Given the description of an element on the screen output the (x, y) to click on. 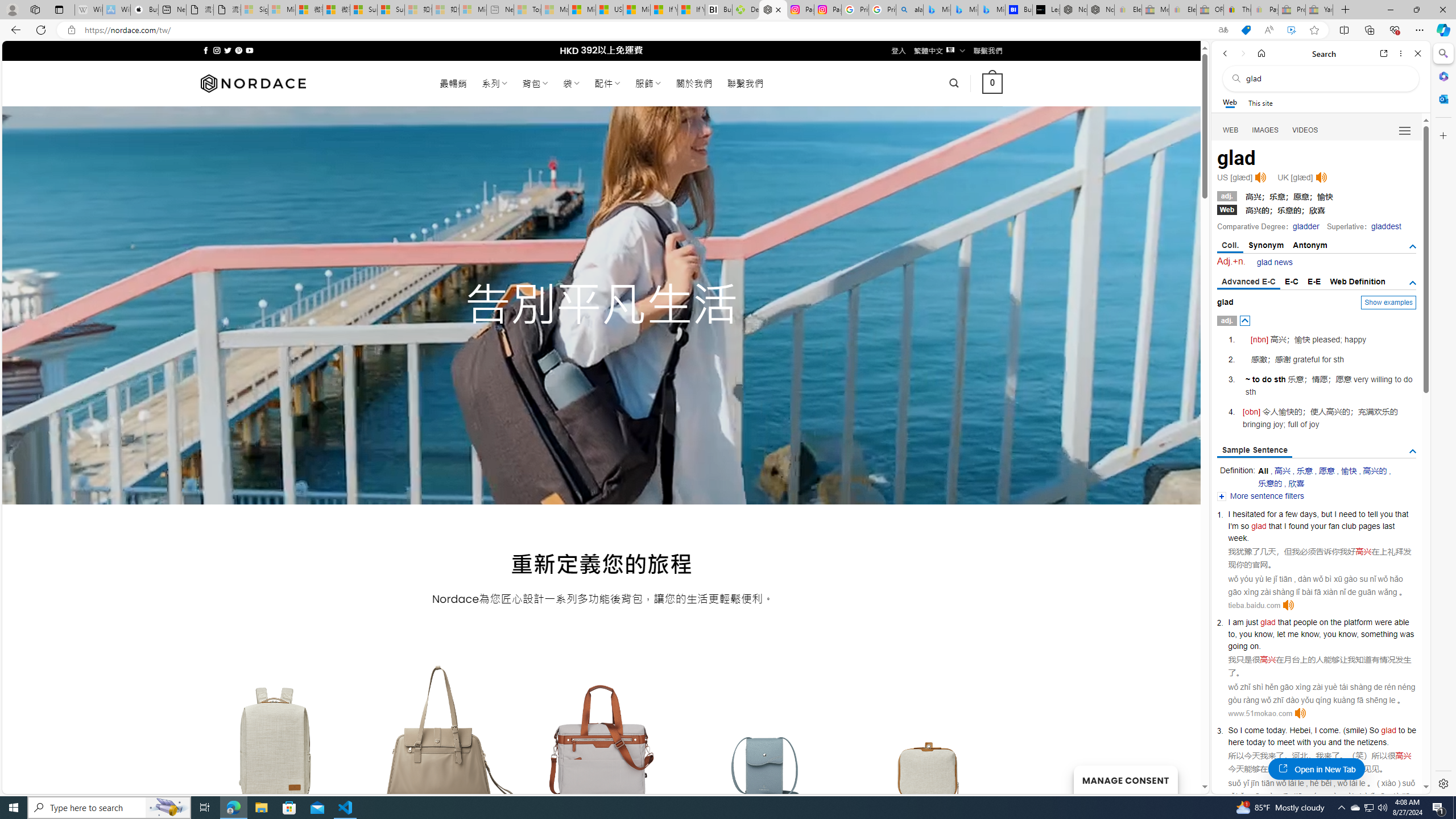
Settings and more (Alt+F) (1419, 29)
AutomationID: tgdef (1412, 282)
Collections (1369, 29)
I (1315, 729)
platform (1358, 621)
Follow on YouTube (249, 50)
here (1235, 741)
Browser essentials (1394, 29)
Personal Profile (12, 9)
